Given the description of an element on the screen output the (x, y) to click on. 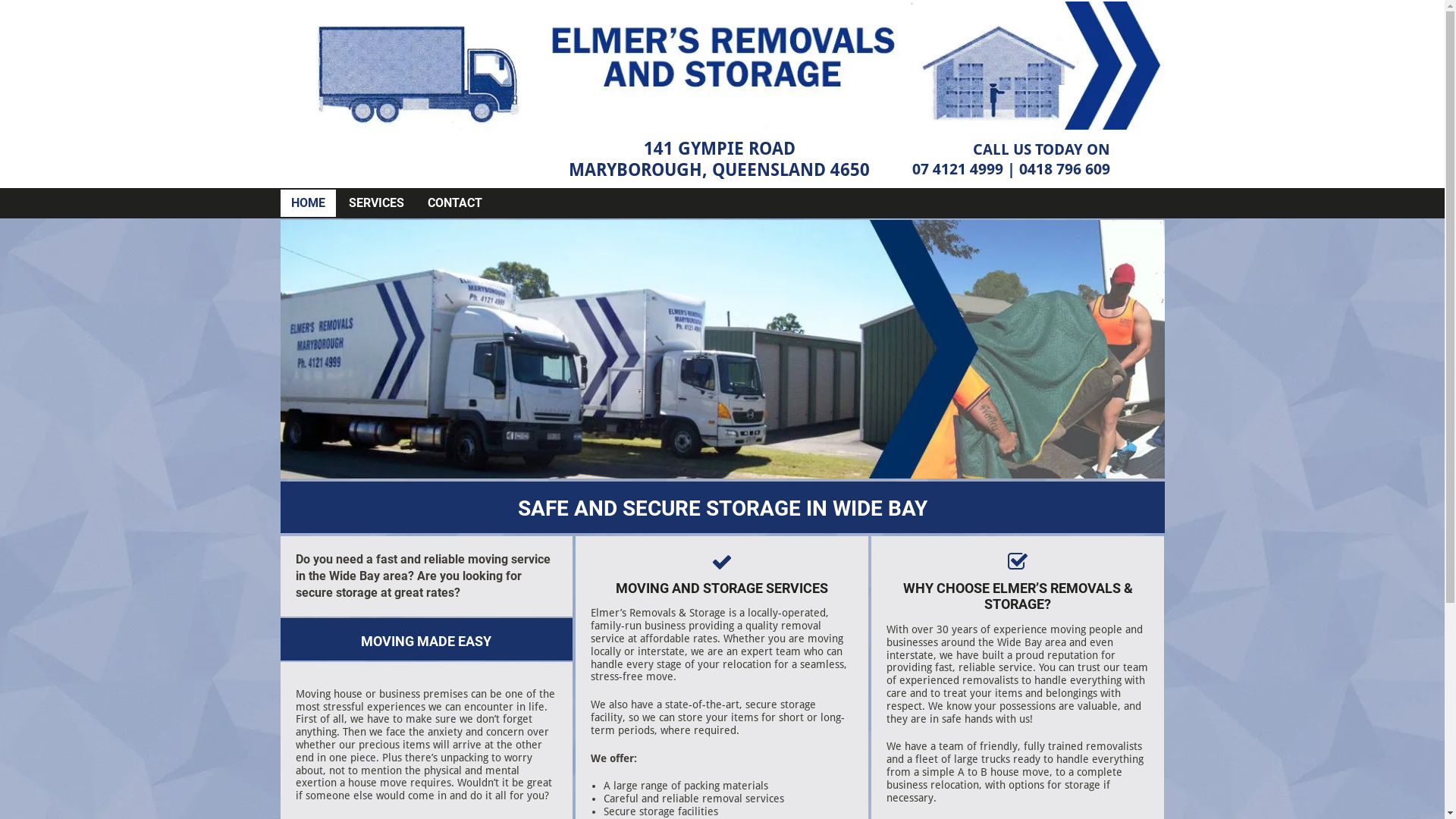
elmers removals and storage header Element type: hover (722, 65)
0418 796 609 Element type: text (1064, 169)
SERVICES Element type: text (376, 203)
07 4121 4999 Element type: text (957, 169)
elmers removals and storage storage trucks Element type: hover (722, 348)
HOME Element type: text (308, 203)
CONTACT Element type: text (454, 203)
